Given the description of an element on the screen output the (x, y) to click on. 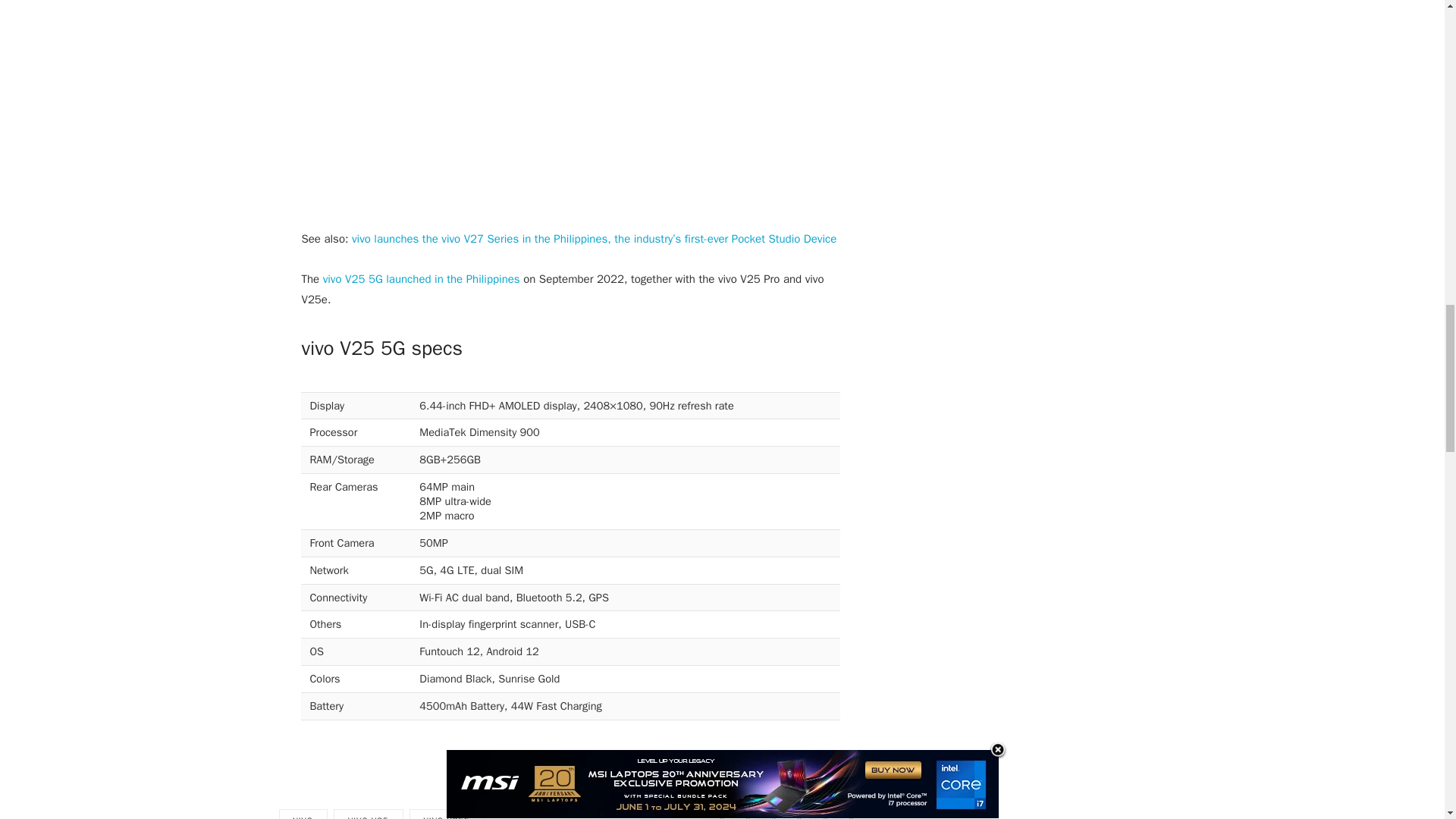
Pinterest (799, 814)
LinkedIn (825, 814)
Facebook (722, 814)
VIVO V25 (368, 814)
Twitter (748, 814)
VIVO (304, 814)
Email (851, 814)
Reddit (774, 814)
VIVO V25E (446, 814)
vivo V25 5G launched in the Philippines (421, 278)
